Given the description of an element on the screen output the (x, y) to click on. 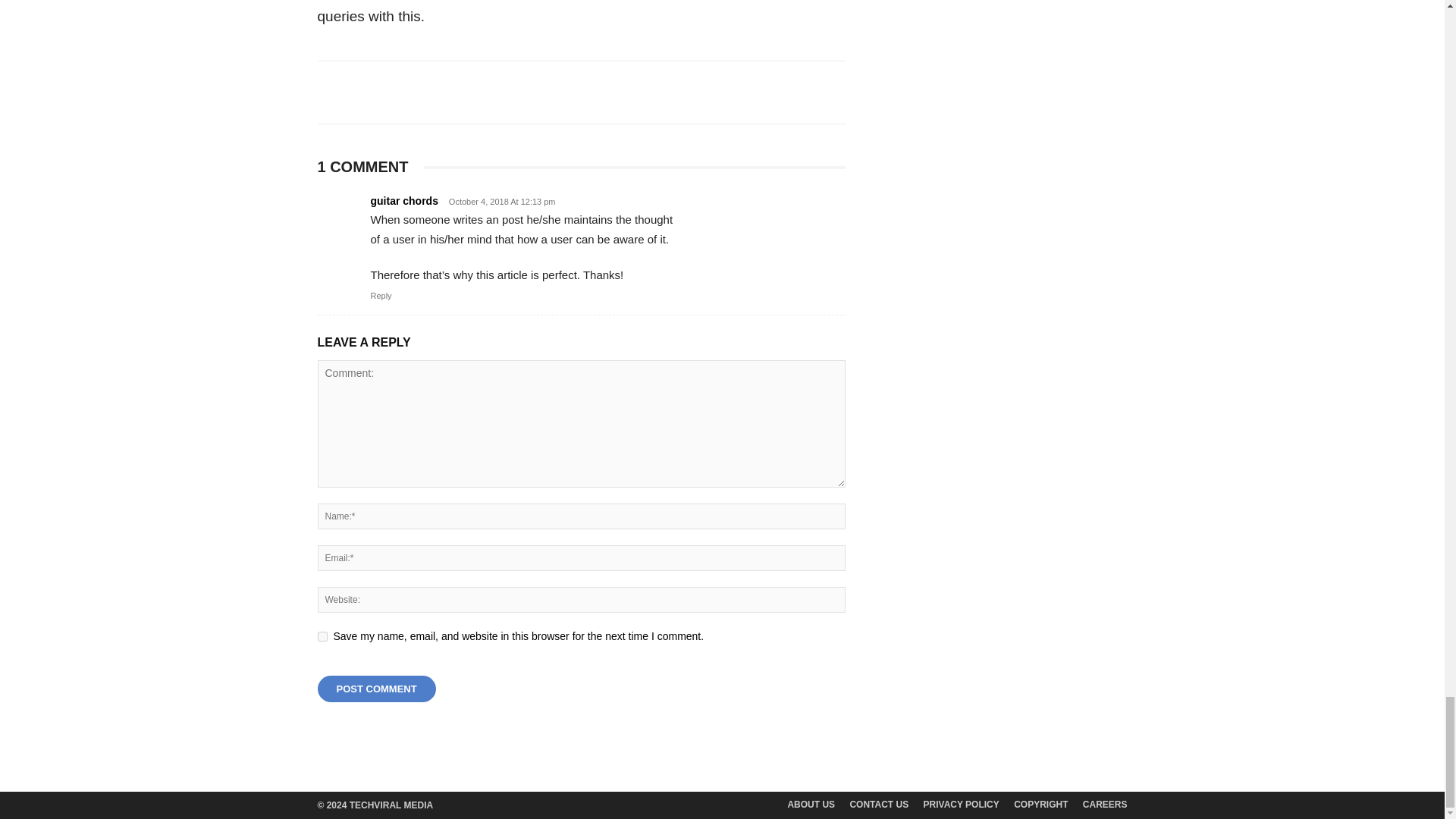
Post Comment (376, 688)
yes (321, 636)
